Given the description of an element on the screen output the (x, y) to click on. 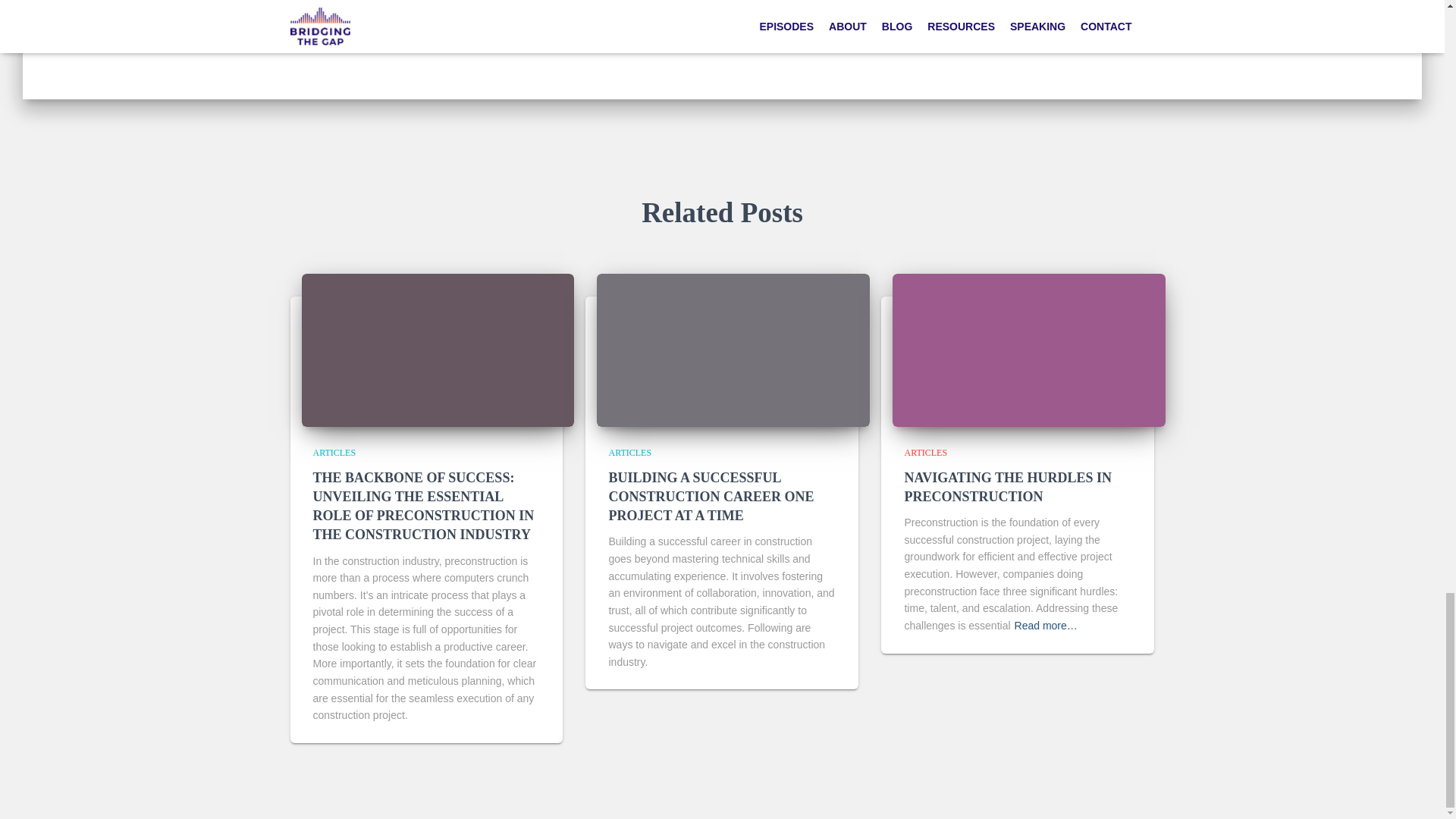
View all posts in Articles (925, 452)
View all posts in Articles (334, 452)
Navigating the Hurdles in Preconstruction (1029, 349)
ARTICLES (334, 452)
View all posts in Articles (629, 452)
ARTICLES (629, 452)
ARTICLES (548, 3)
NAVIGATING THE HURDLES IN PRECONSTRUCTION (1008, 487)
Navigating the Hurdles in Preconstruction (1008, 487)
ARTICLES (925, 452)
